Given the description of an element on the screen output the (x, y) to click on. 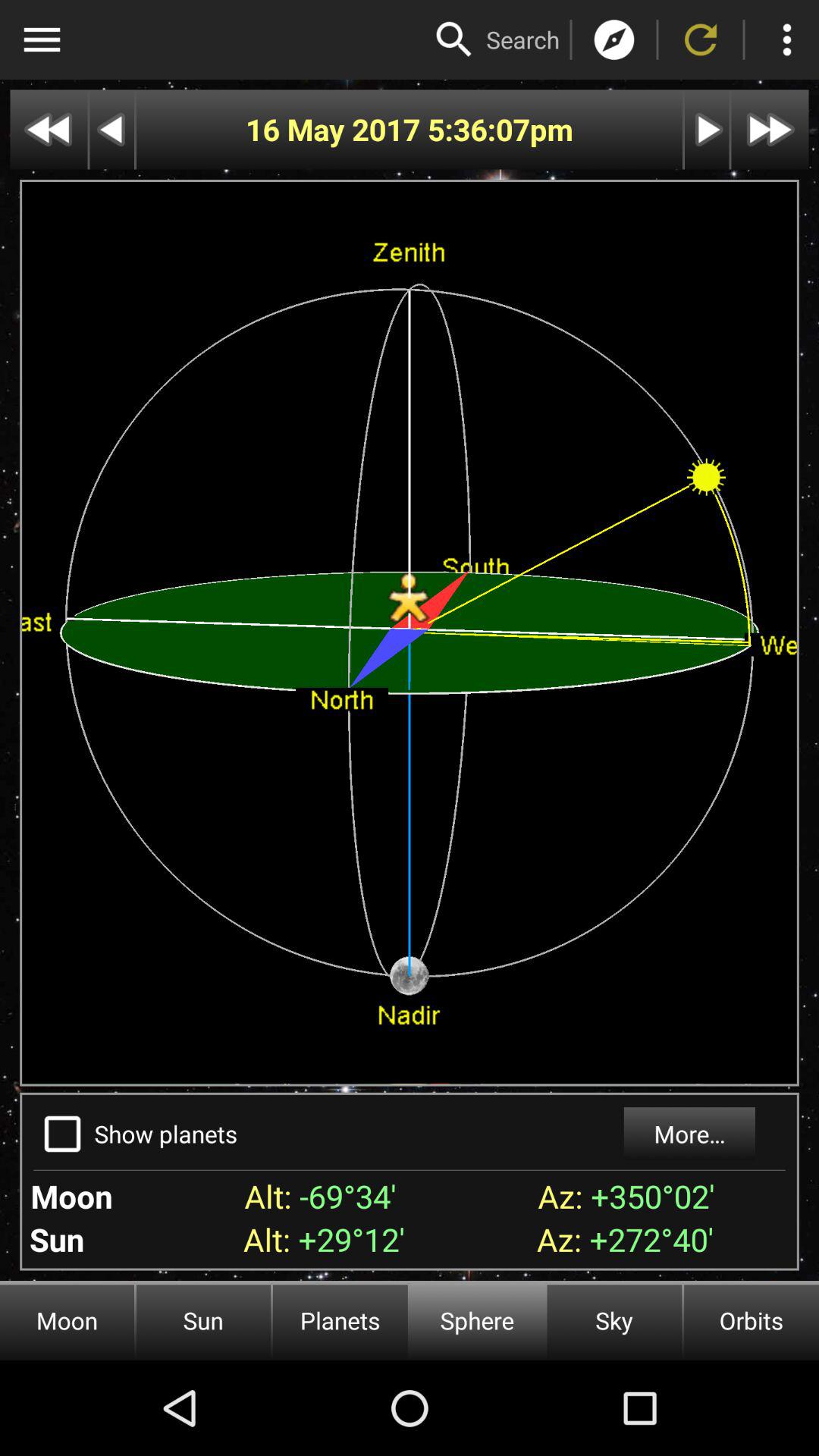
click icon next to the pm app (478, 129)
